Given the description of an element on the screen output the (x, y) to click on. 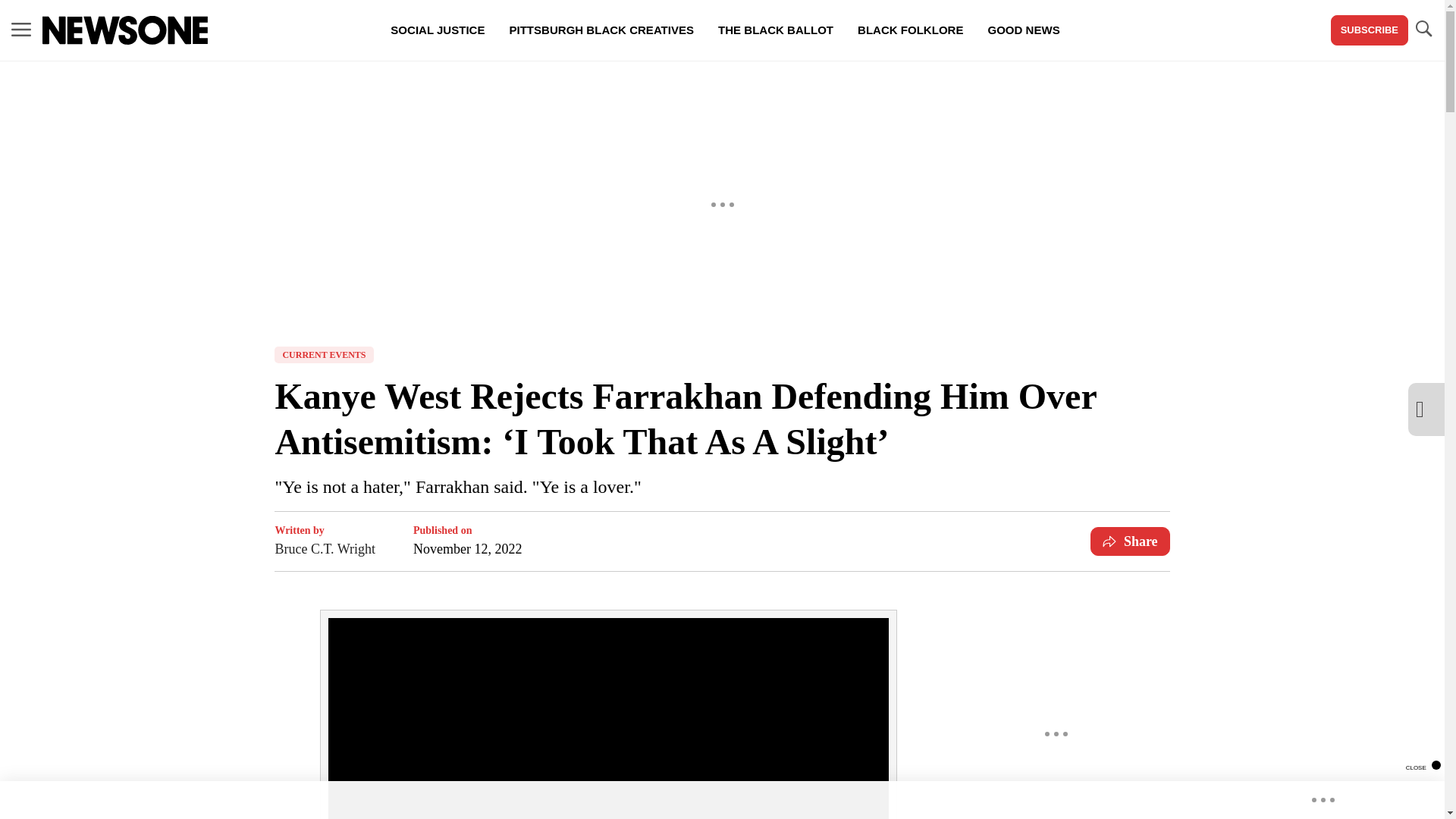
TOGGLE SEARCH (1422, 30)
SUBSCRIBE (1368, 30)
CURRENT EVENTS (323, 354)
THE BLACK BALLOT (775, 30)
BLACK FOLKLORE (910, 30)
Bruce C.T. Wright (325, 548)
MENU (20, 30)
TOGGLE SEARCH (1422, 28)
GOOD NEWS (1023, 30)
MENU (20, 29)
